Given the description of an element on the screen output the (x, y) to click on. 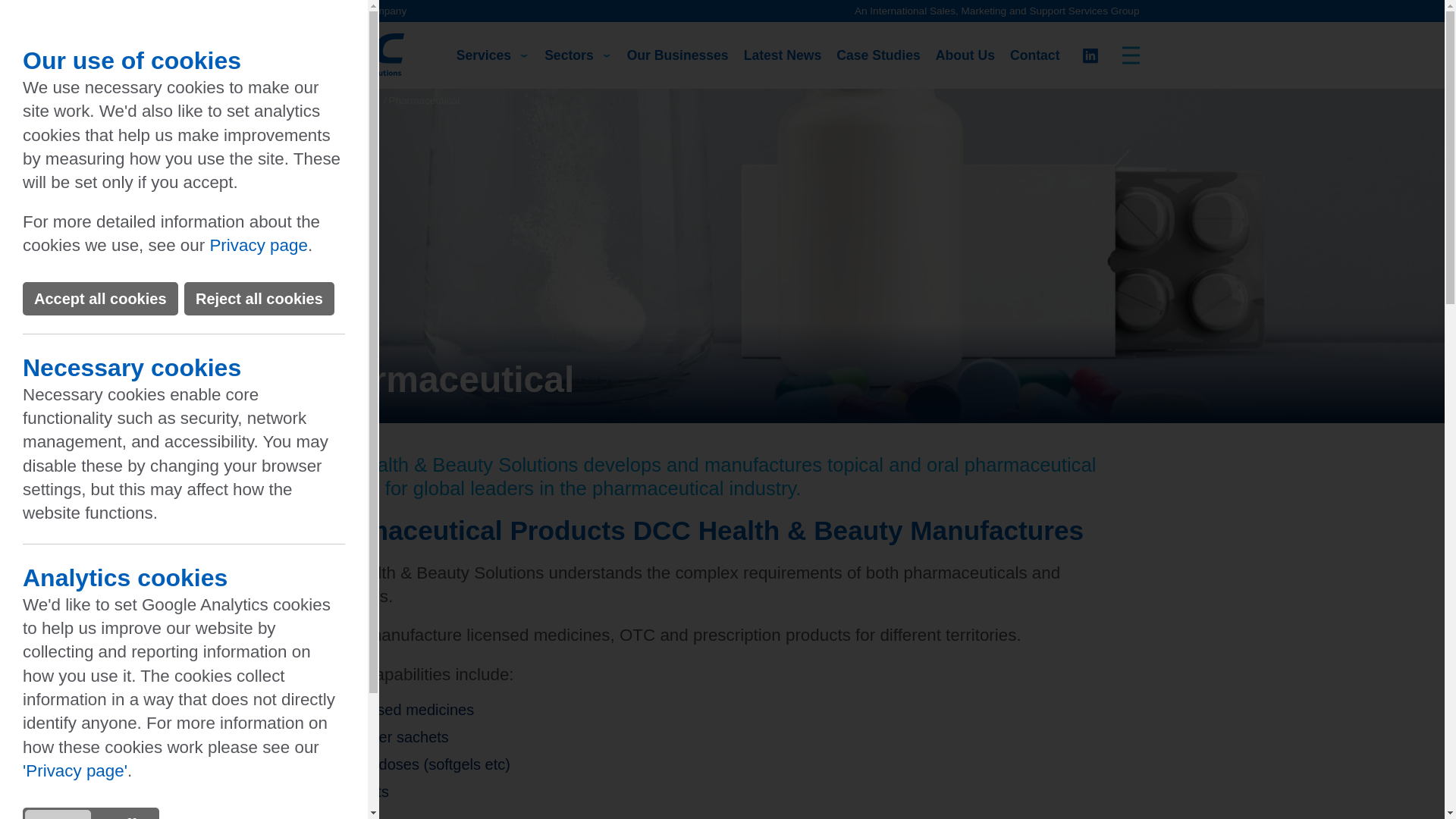
Contact (1035, 55)
Latest News (782, 55)
About Us (965, 55)
Services (492, 55)
Sectors (578, 55)
Our Businesses (678, 55)
Case Studies (878, 55)
